Given the description of an element on the screen output the (x, y) to click on. 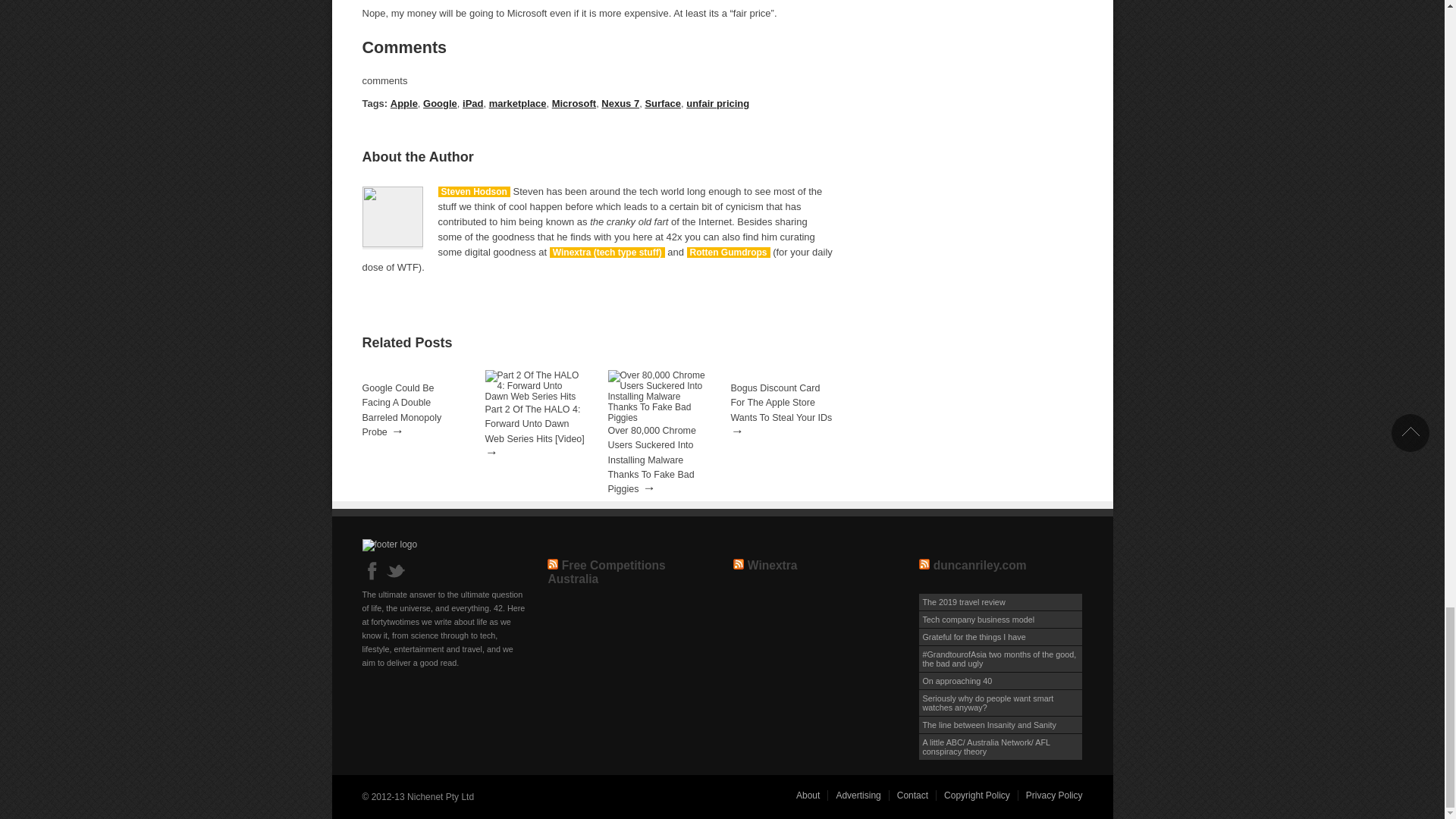
Steven Hodson (474, 191)
Free Competitions Australia (606, 571)
Google Could Be Facing A Double Barreled Monopoly Probe (402, 409)
Google (440, 102)
Google Could Be Facing A Double Barreled Monopoly Probe (402, 409)
unfair pricing (717, 102)
